Given the description of an element on the screen output the (x, y) to click on. 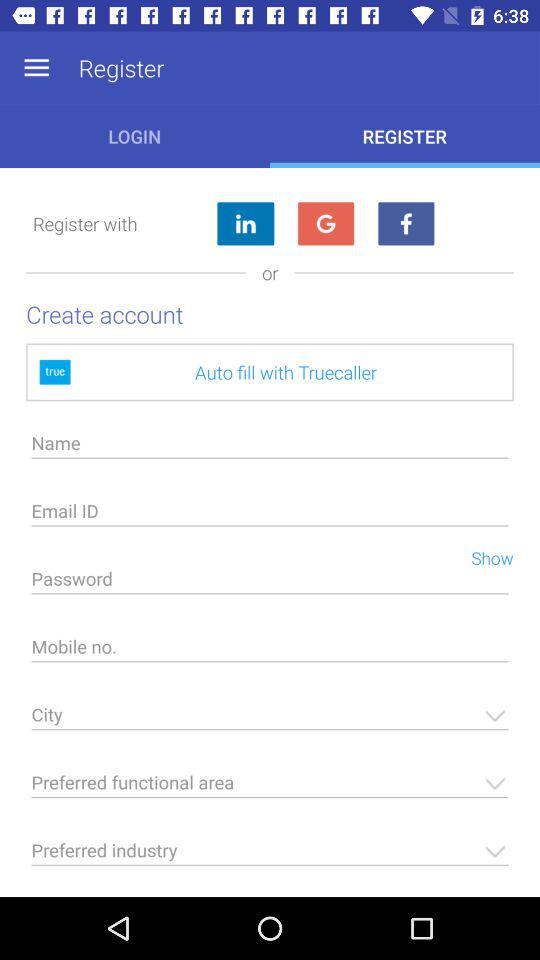
open the icon above the register with icon (36, 68)
